Given the description of an element on the screen output the (x, y) to click on. 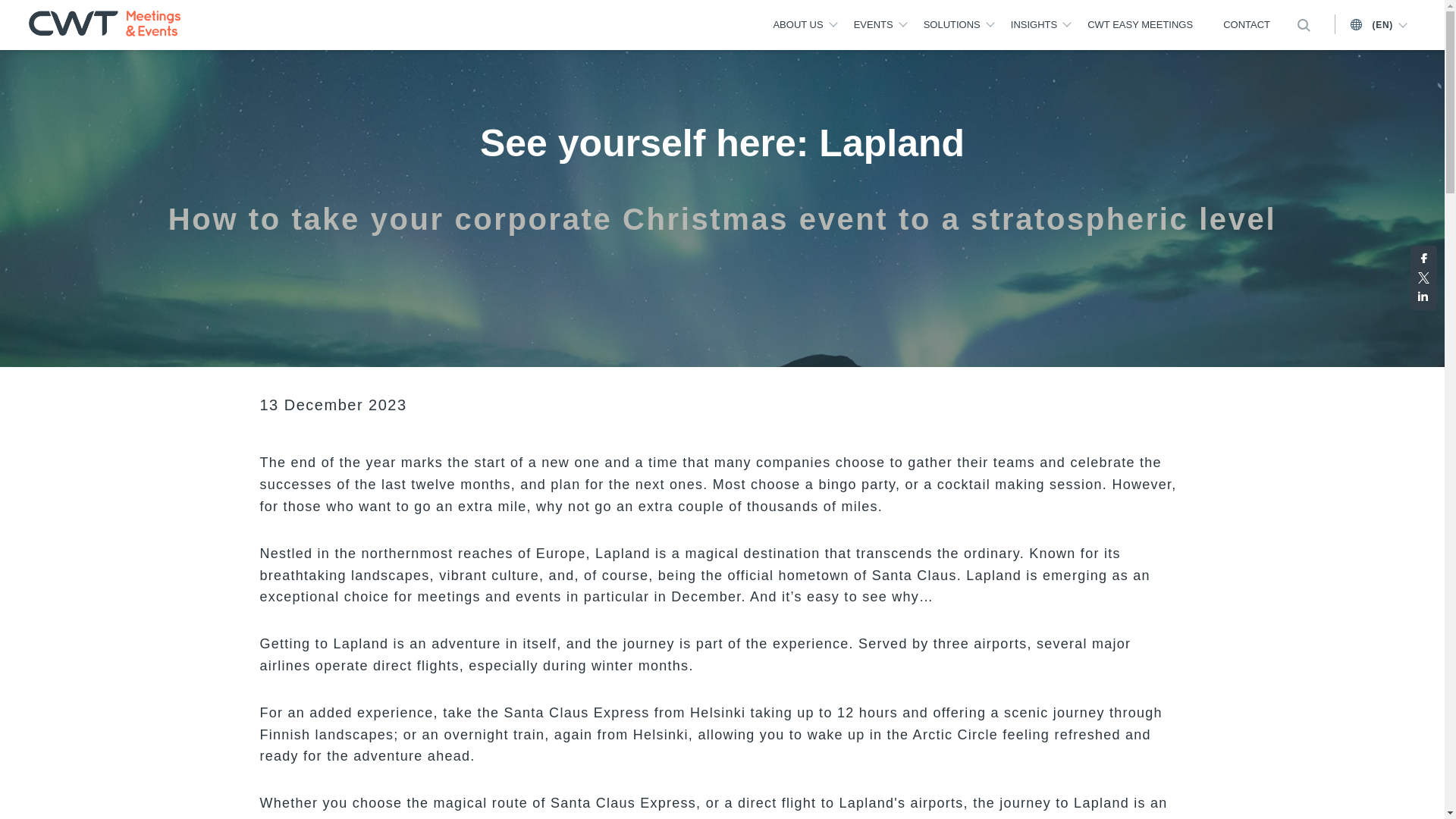
CONTACT (1246, 25)
ABOUT US (797, 25)
Enter (1206, 79)
CWT EASY MEETINGS (1139, 25)
INSIGHTS (1033, 25)
SOLUTIONS (951, 25)
